Given the description of an element on the screen output the (x, y) to click on. 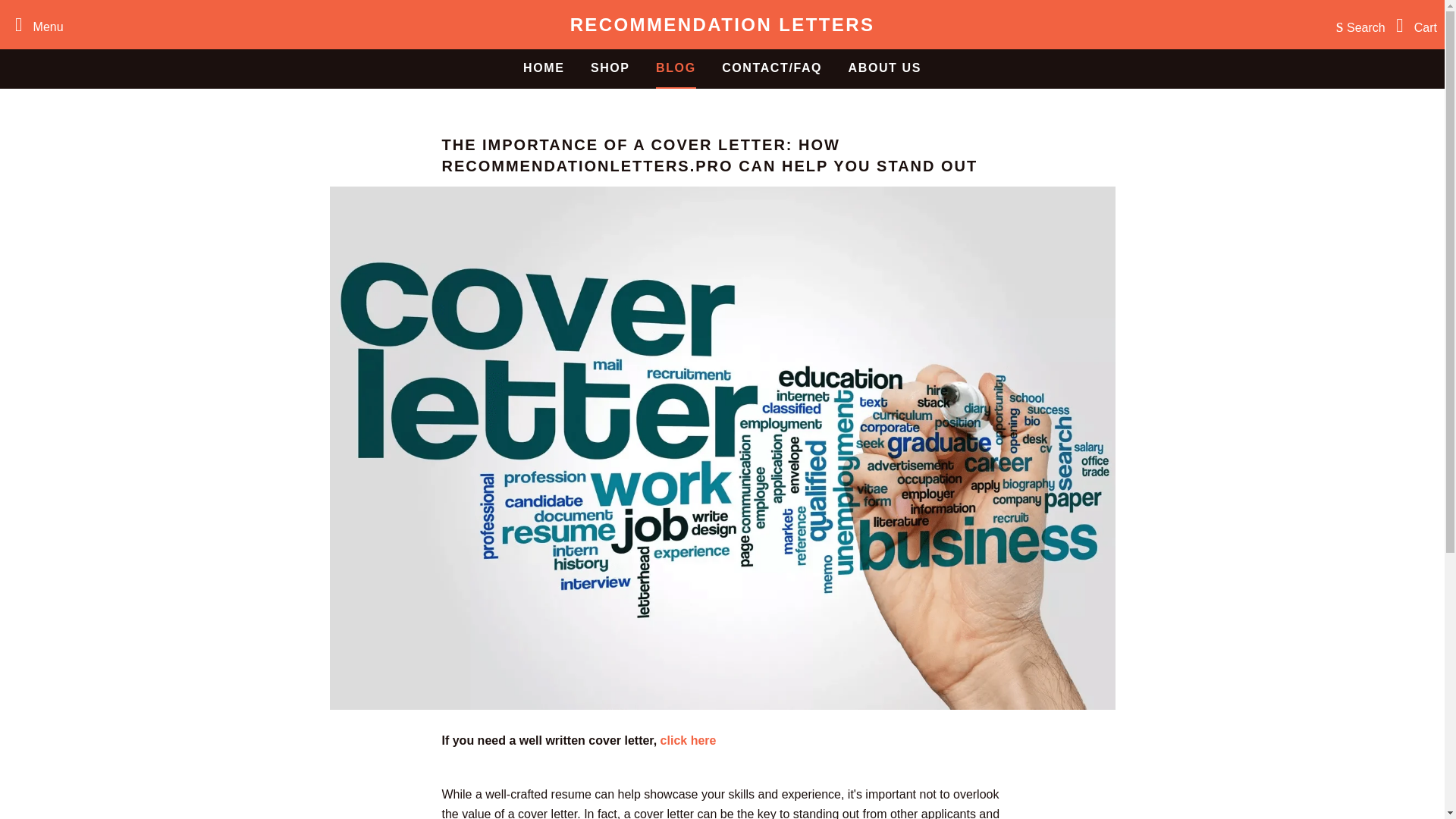
SHOP (610, 67)
cover letter writing service (688, 739)
click here (688, 739)
Menu (35, 24)
Search (1356, 23)
ABOUT US (885, 67)
Cart (1413, 23)
HOME (543, 67)
RECOMMENDATION LETTERS (722, 24)
BLOG (676, 67)
